Given the description of an element on the screen output the (x, y) to click on. 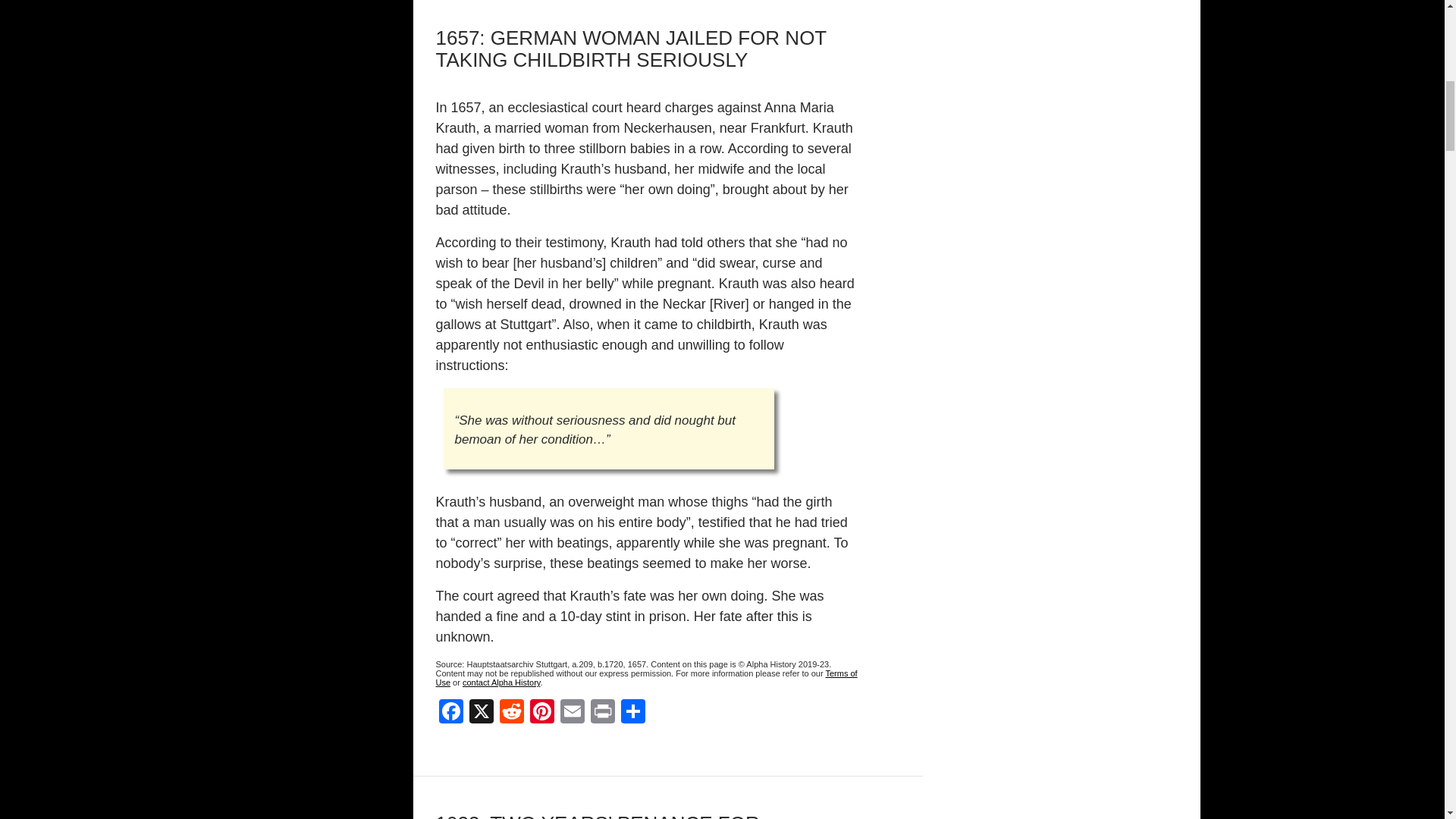
Facebook (450, 713)
Print (601, 713)
X (480, 713)
Reddit (510, 713)
Email (571, 713)
Pinterest (540, 713)
